Given the description of an element on the screen output the (x, y) to click on. 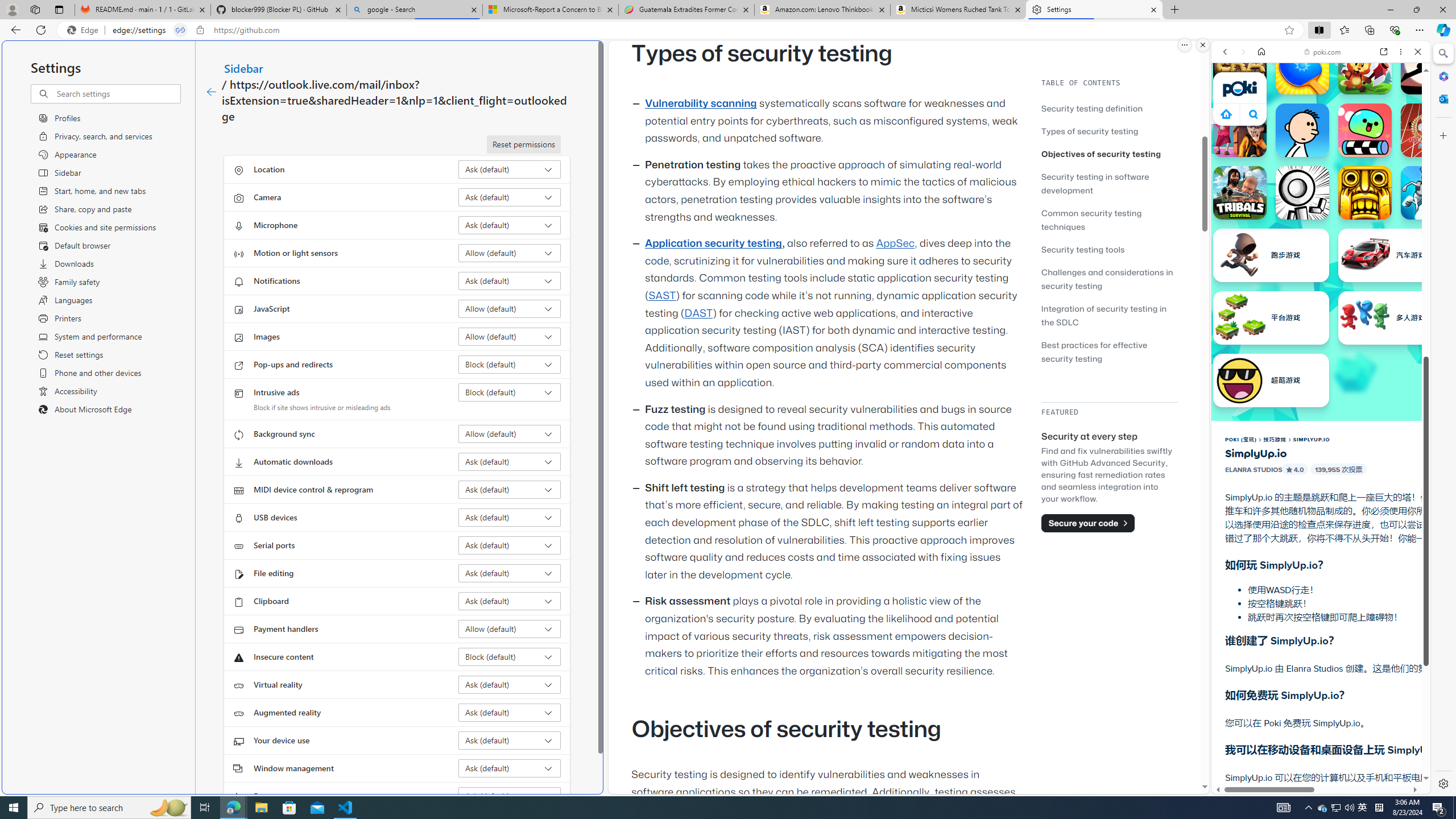
Best practices for effective security testing (1109, 351)
Integration of security testing in the SDLC (1109, 315)
Era: Evolution (1239, 67)
Games for Girls (1320, 406)
Fox Island Builder Fox Island Builder (1364, 67)
Location Ask (default) (509, 169)
